Given the description of an element on the screen output the (x, y) to click on. 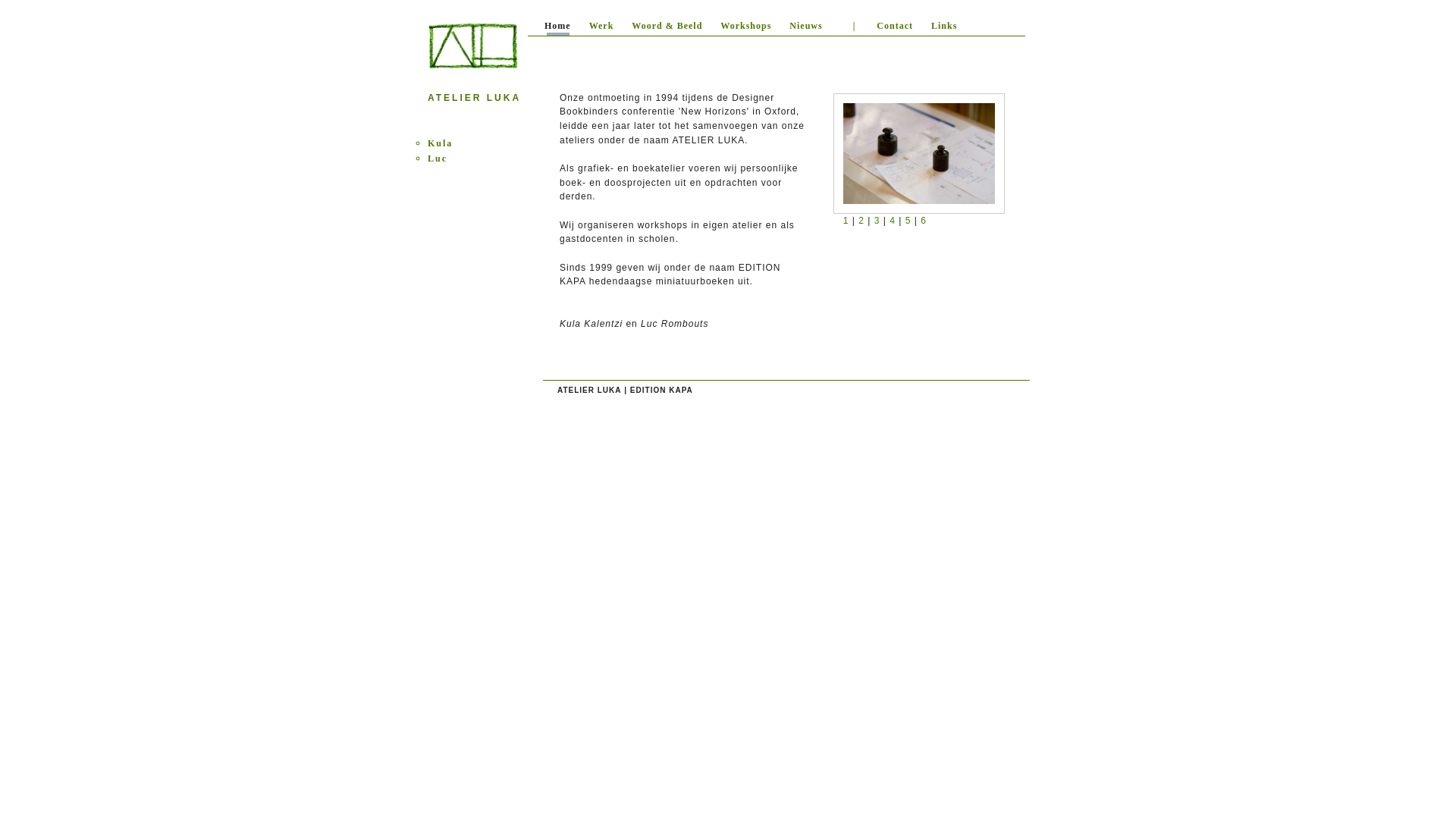
Workshops Element type: text (745, 27)
EDITION KAPA Element type: text (661, 389)
Woord & Beeld Element type: text (666, 27)
ATELIER LUKA Element type: text (589, 389)
2 Element type: text (861, 220)
Luc Element type: text (437, 158)
5 Element type: text (908, 220)
3 Element type: text (877, 220)
4 Element type: text (892, 220)
6 Element type: text (923, 220)
Werk Element type: text (601, 27)
Nieuws Element type: text (805, 27)
    |  Element type: text (849, 27)
Home Element type: text (557, 27)
Links Element type: text (944, 27)
Contact Element type: text (894, 27)
Kula Element type: text (439, 143)
1 Element type: text (846, 220)
